Given the description of an element on the screen output the (x, y) to click on. 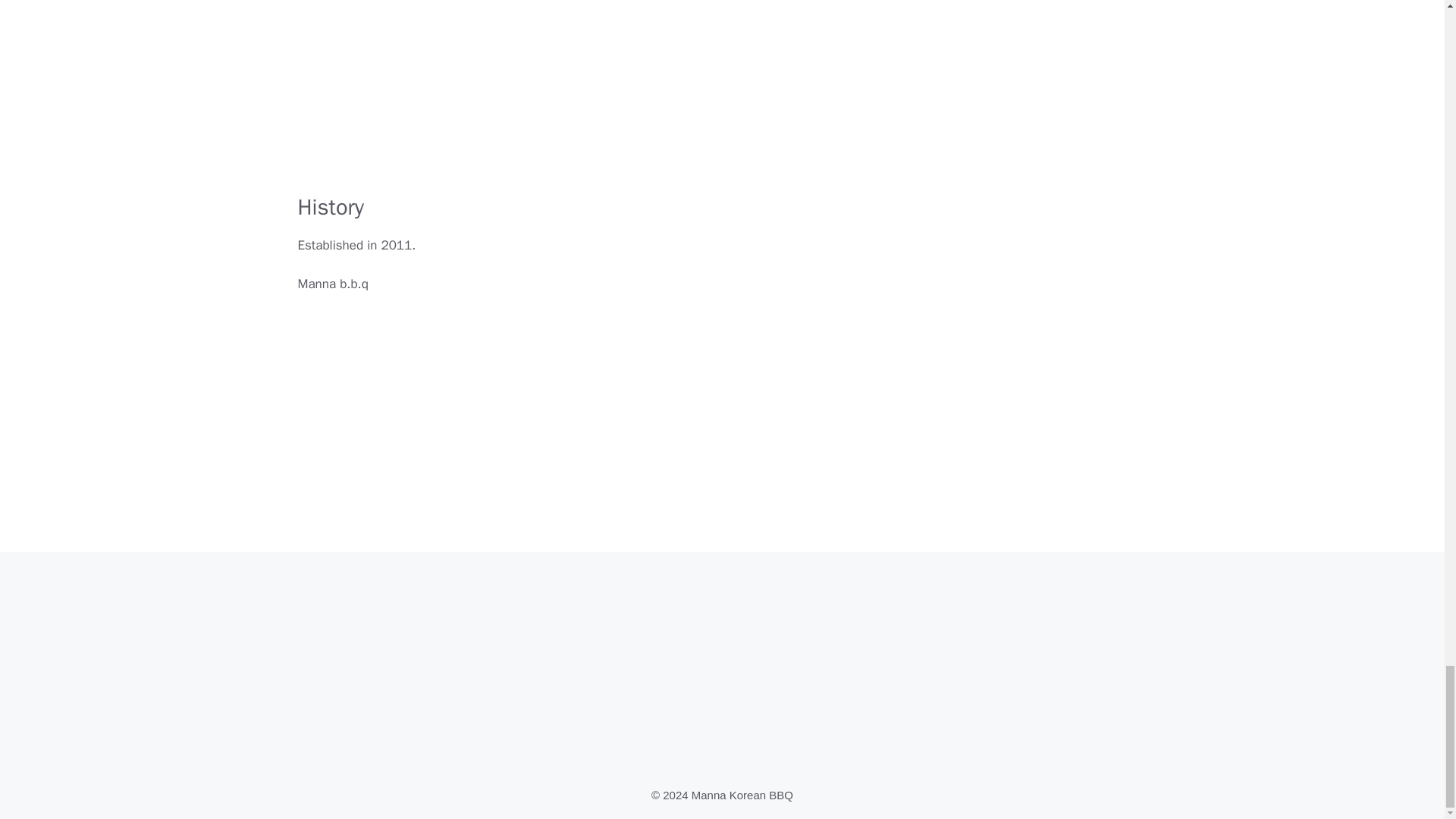
manna bbq stephanie review (581, 97)
